Given the description of an element on the screen output the (x, y) to click on. 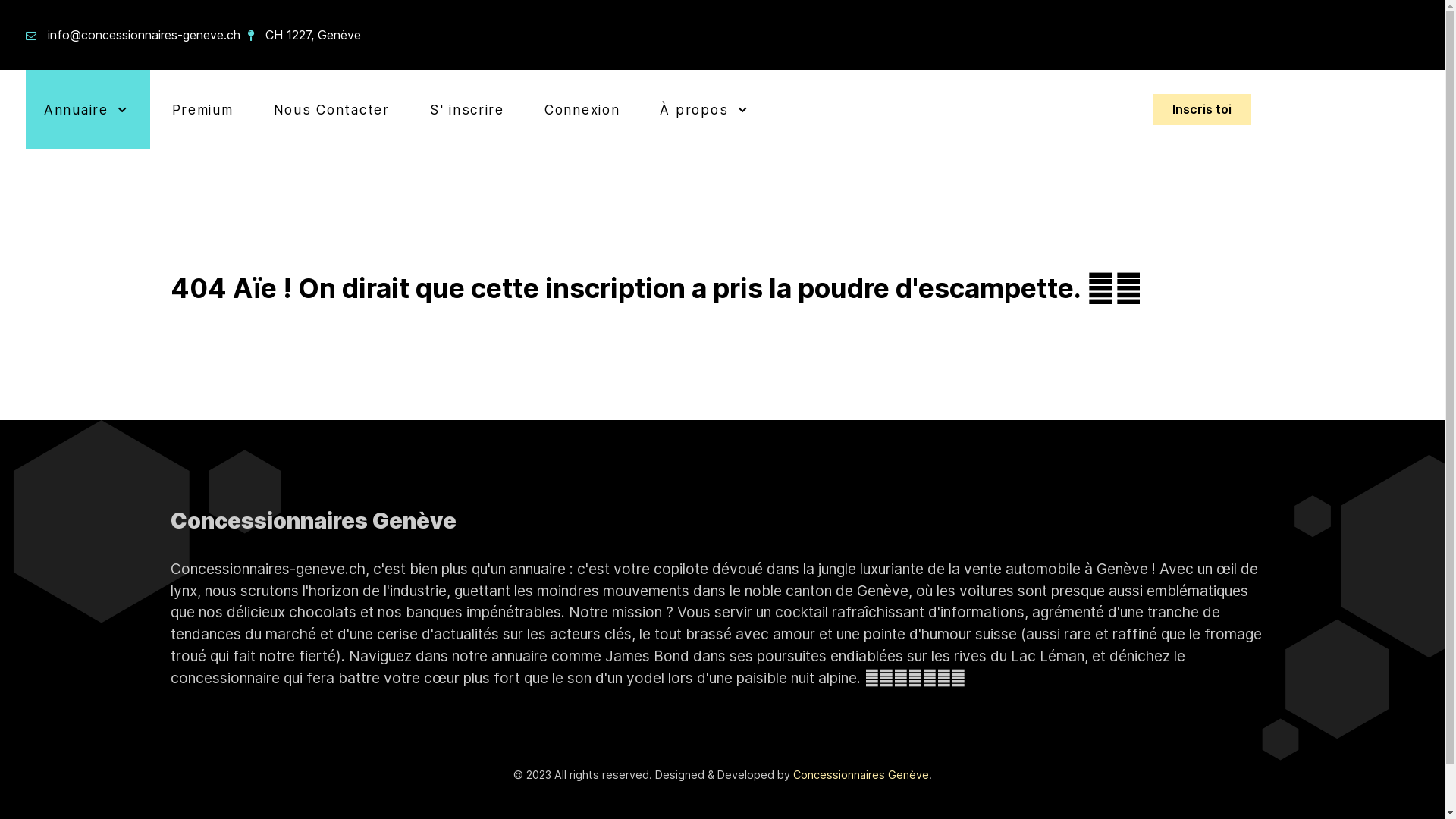
Premium Element type: text (202, 109)
info@concessionnaires-geneve.ch Element type: text (143, 34)
S' inscrire Element type: text (466, 109)
Inscris toi Element type: text (1201, 109)
Nous Contacter Element type: text (331, 109)
Connexion Element type: text (582, 109)
Annuaire Element type: text (87, 109)
